Given the description of an element on the screen output the (x, y) to click on. 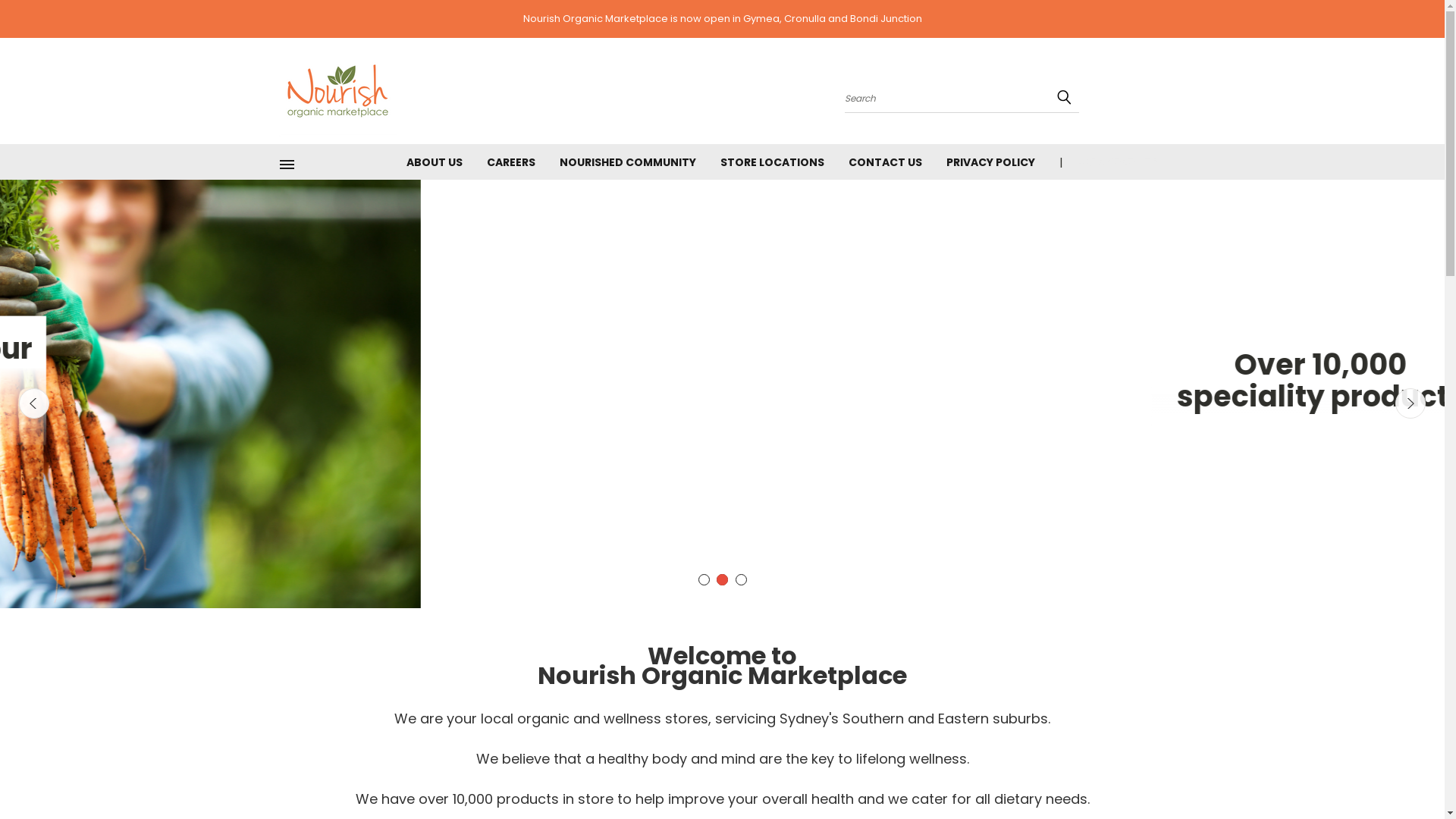
Next Element type: text (1410, 403)
+61 2 9525 4704 Element type: text (1116, 161)
submit Element type: hover (1063, 96)
Come speak with our team of Organic Experts Element type: text (722, 380)
STORE LOCATIONS Element type: text (772, 161)
PRIVACY POLICY Element type: text (990, 161)
ABOUT US Element type: text (434, 161)
CONTACT US Element type: text (884, 161)
Previous Element type: text (33, 403)
NOURISHED COMMUNITY Element type: text (627, 161)
CAREERS Element type: text (510, 161)
Nourish Organic Marketplace Element type: hover (337, 90)
